Given the description of an element on the screen output the (x, y) to click on. 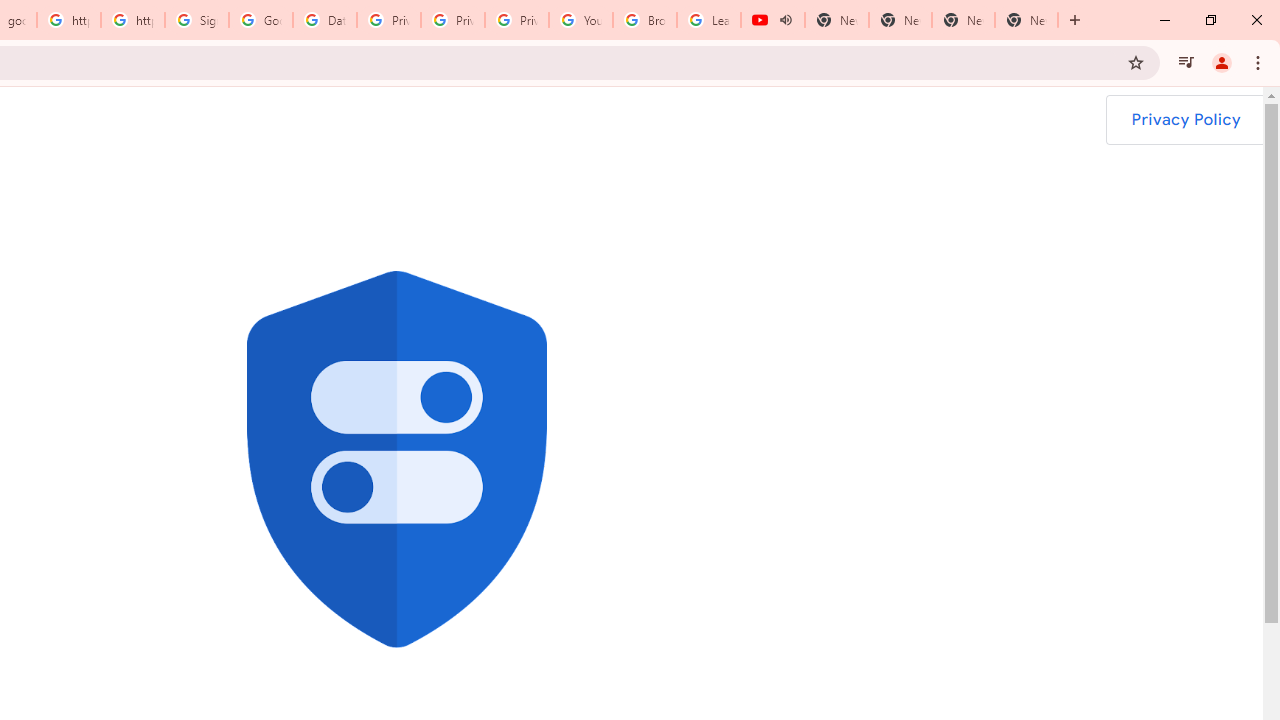
https://scholar.google.com/ (133, 20)
Browse Chrome as a guest - Computer - Google Chrome Help (645, 20)
Control your music, videos, and more (1185, 62)
Privacy Help Center - Policies Help (389, 20)
YouTube (581, 20)
Privacy Policy (1185, 119)
Privacy Help Center - Policies Help (453, 20)
https://scholar.google.com/ (69, 20)
New Tab (1026, 20)
Mute tab (785, 20)
